Given the description of an element on the screen output the (x, y) to click on. 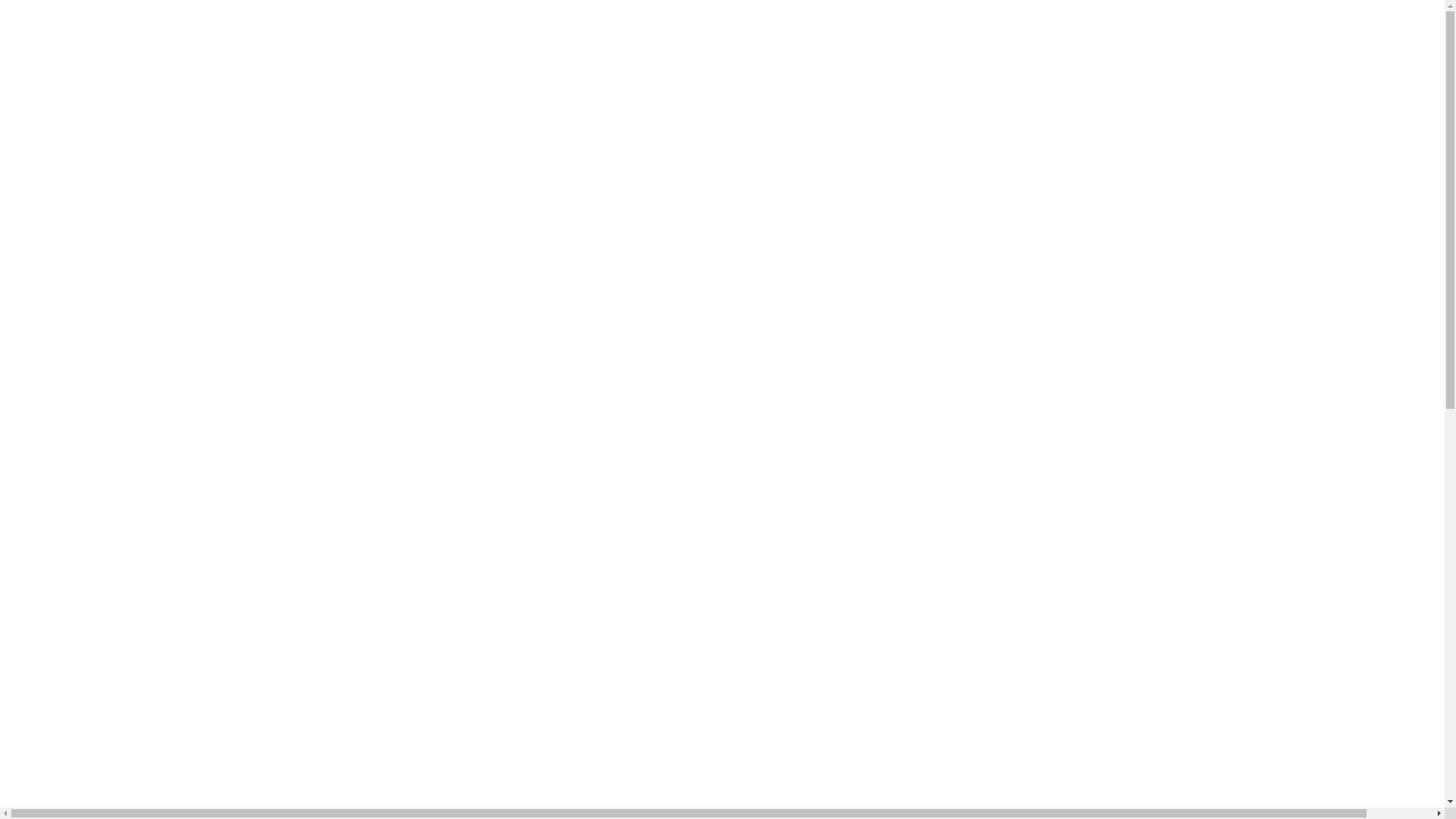
Prijs Element type: text (48, 152)
RESERVEREN Element type: text (34, 197)
